Given the description of an element on the screen output the (x, y) to click on. 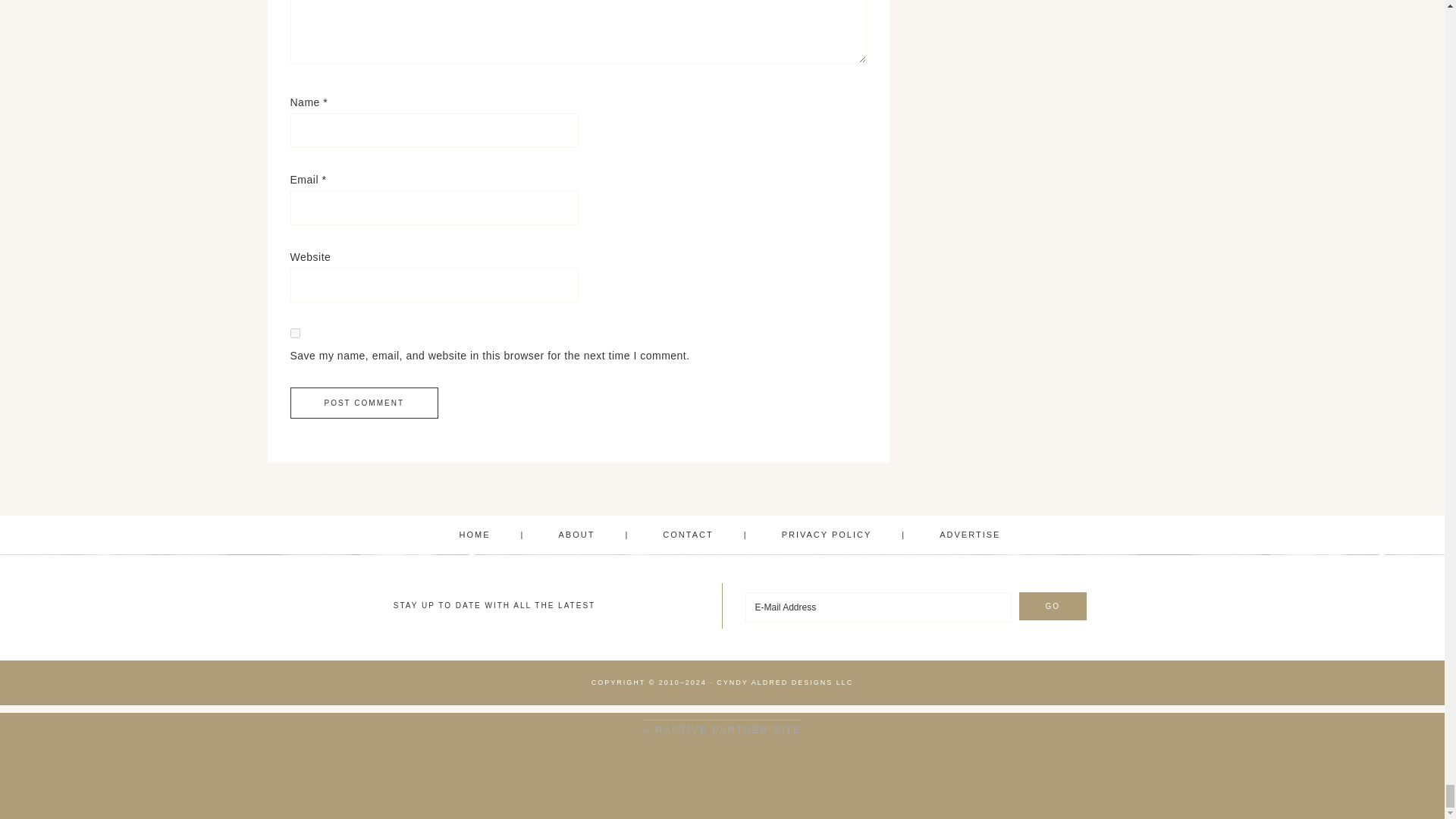
Post Comment (363, 402)
Go (1053, 605)
yes (294, 333)
